Given the description of an element on the screen output the (x, y) to click on. 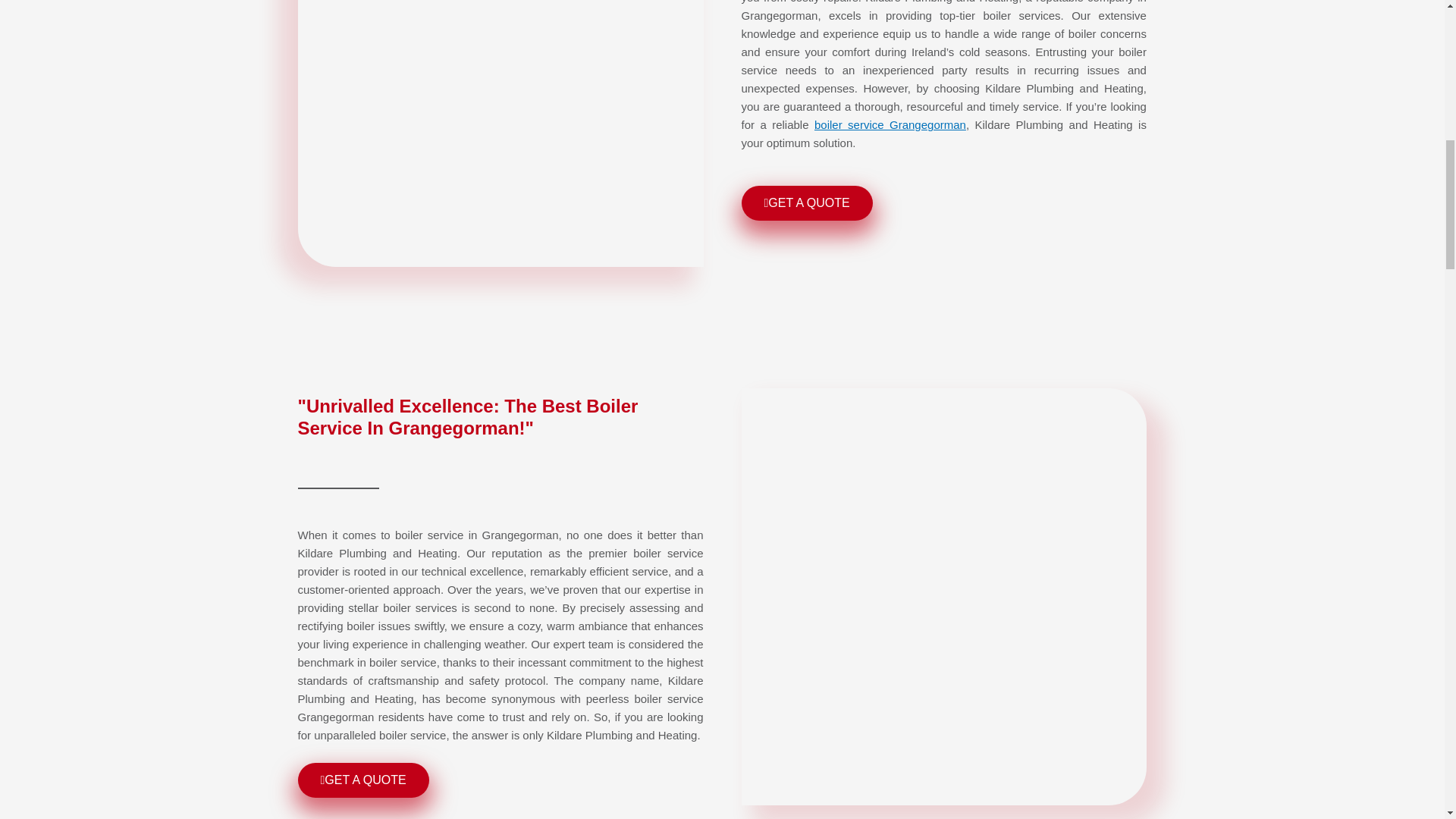
GET A QUOTE (362, 779)
boiler service Grangegorman (889, 124)
GET A QUOTE (806, 202)
